Given the description of an element on the screen output the (x, y) to click on. 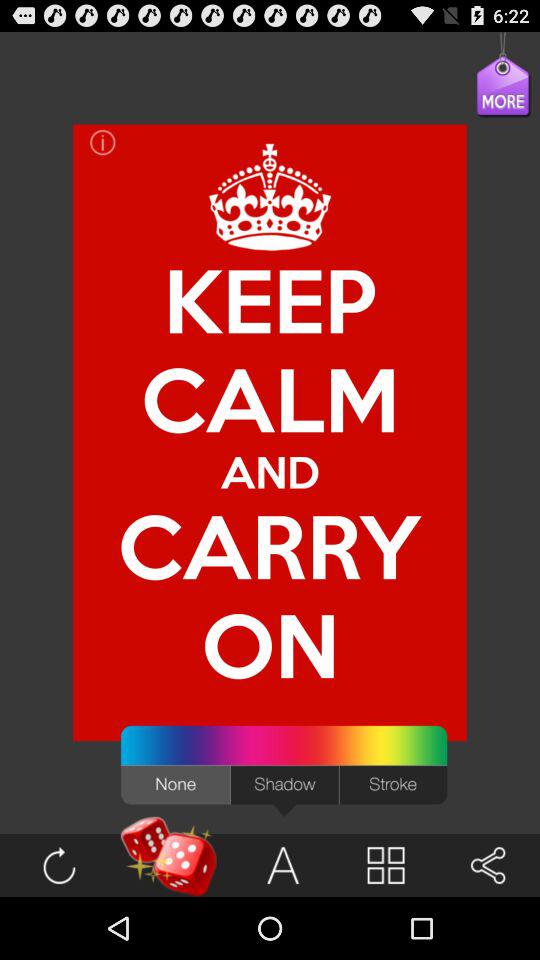
click item above and item (269, 299)
